Given the description of an element on the screen output the (x, y) to click on. 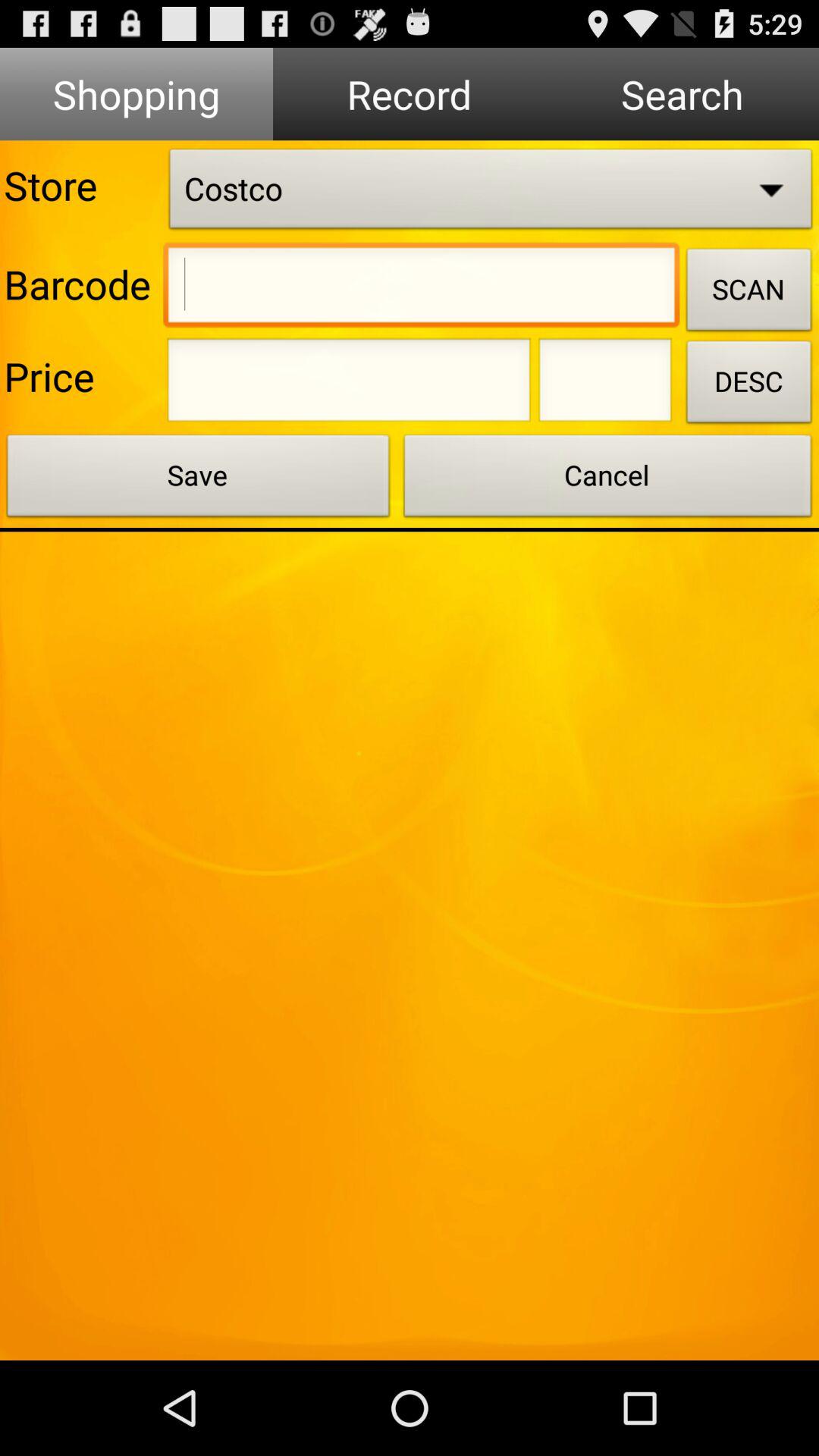
text input barcode (421, 288)
